Given the description of an element on the screen output the (x, y) to click on. 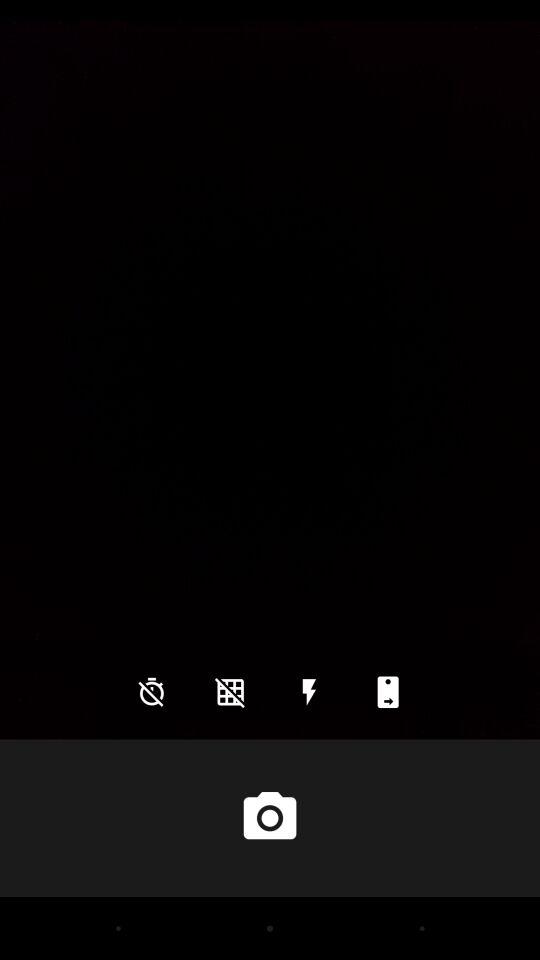
turn off the icon at the bottom right corner (387, 691)
